Given the description of an element on the screen output the (x, y) to click on. 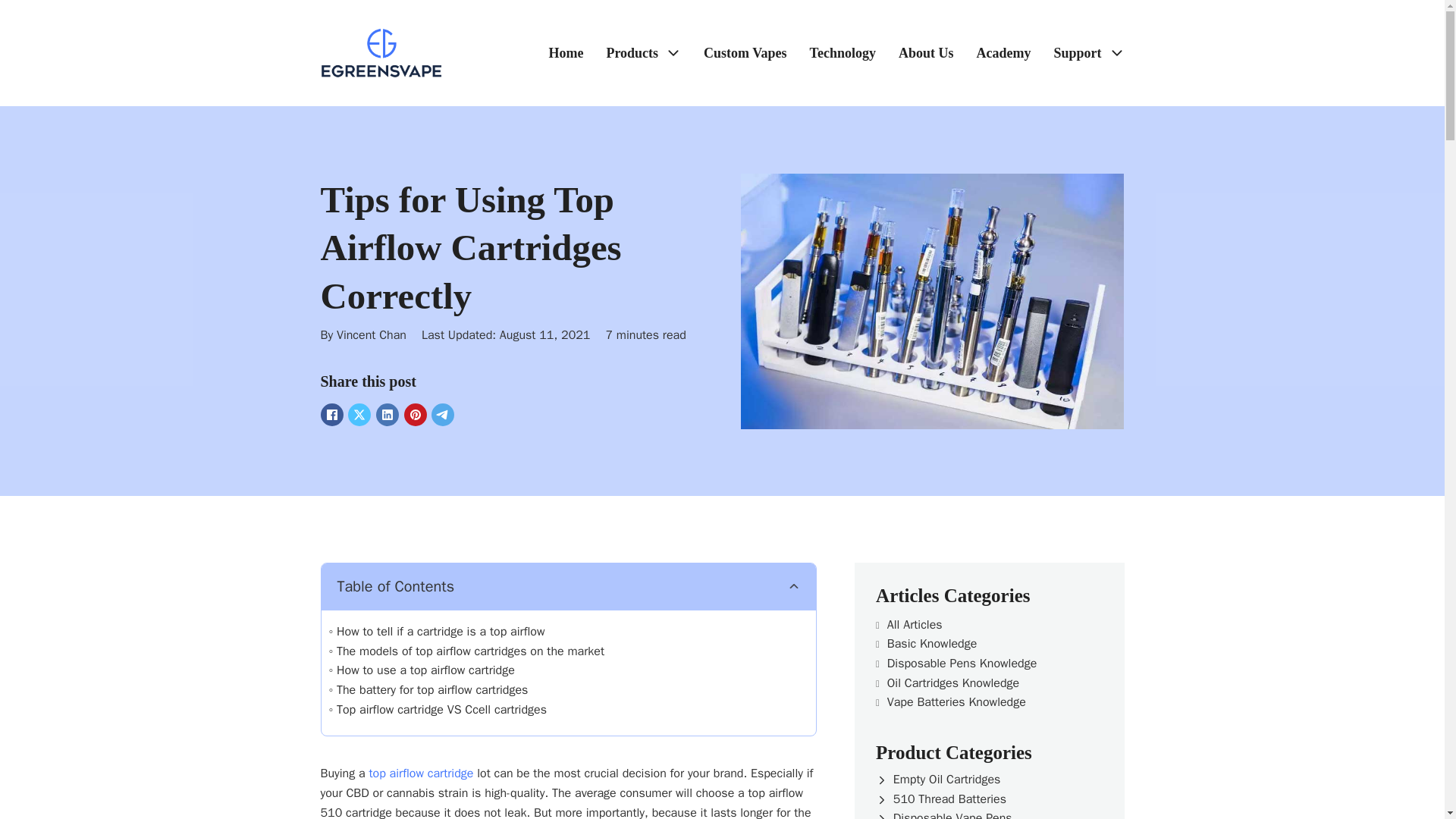
Technology (842, 53)
Products (631, 53)
Support (1076, 53)
Home (565, 53)
Academy (1002, 53)
Custom Vapes (745, 53)
About Us (925, 53)
